Given the description of an element on the screen output the (x, y) to click on. 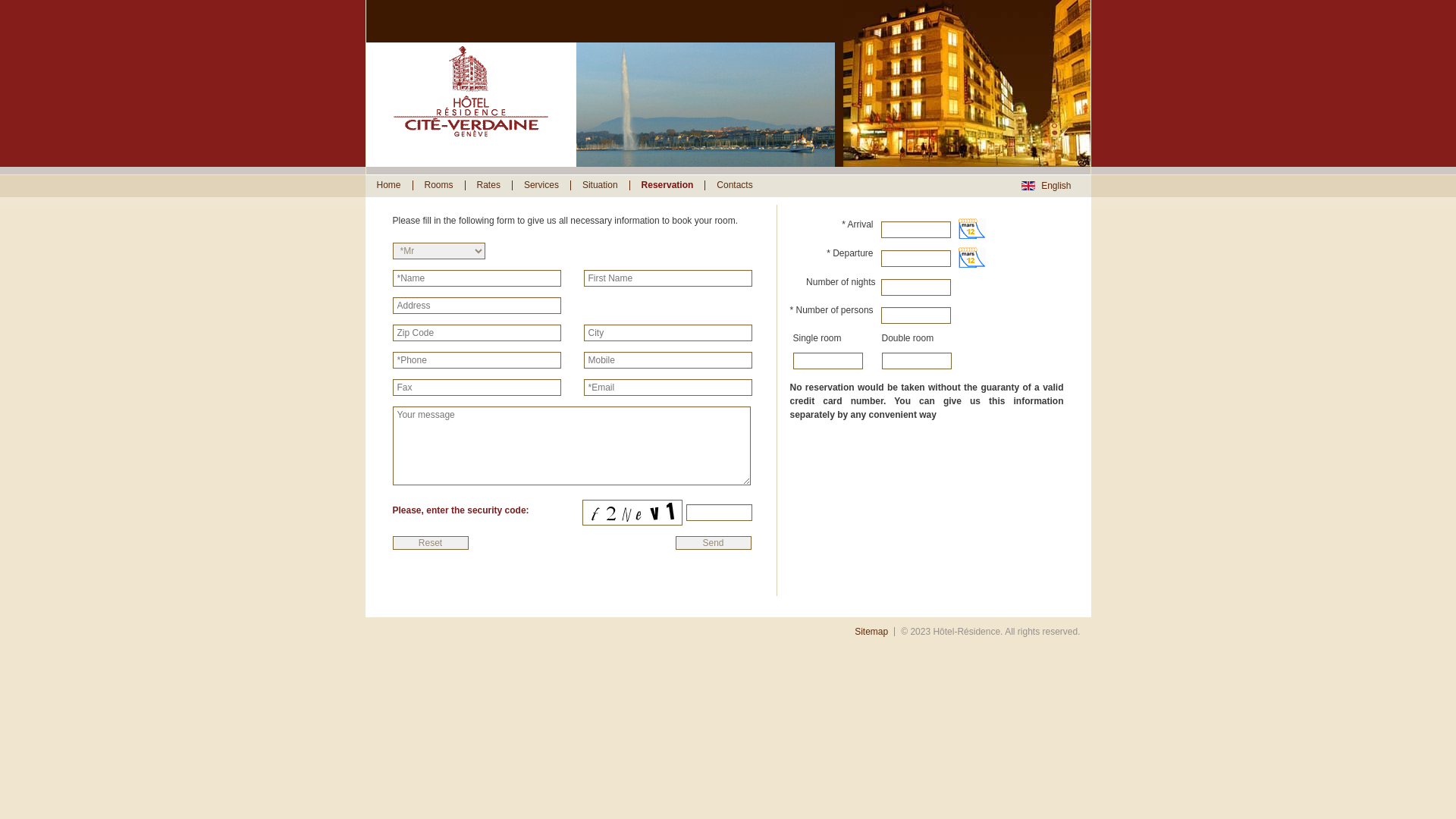
Situation Element type: text (599, 185)
Hotel-Residence :: Geneva Element type: hover (470, 161)
Contacts Element type: text (733, 185)
Reservation Element type: text (667, 185)
Reset Element type: text (430, 542)
Send Element type: text (712, 542)
English Element type: text (1045, 185)
Hotel-Residence :: Geneva Element type: hover (470, 104)
Rooms Element type: text (438, 185)
Rates Element type: text (487, 185)
Sitemap Element type: text (874, 631)
Services Element type: text (540, 185)
Home Element type: text (388, 185)
